Given the description of an element on the screen output the (x, y) to click on. 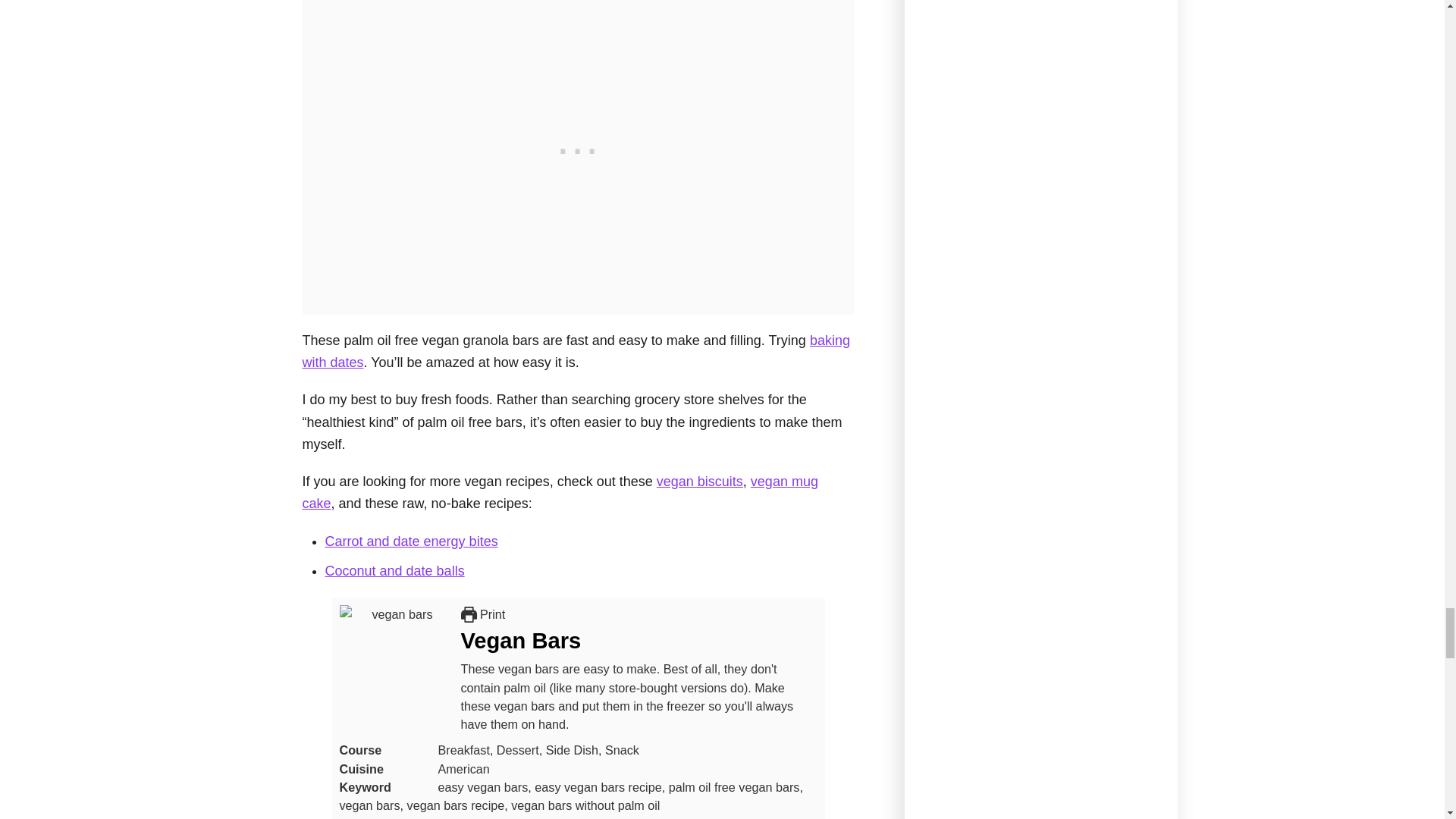
baking with dates (574, 351)
